Given the description of an element on the screen output the (x, y) to click on. 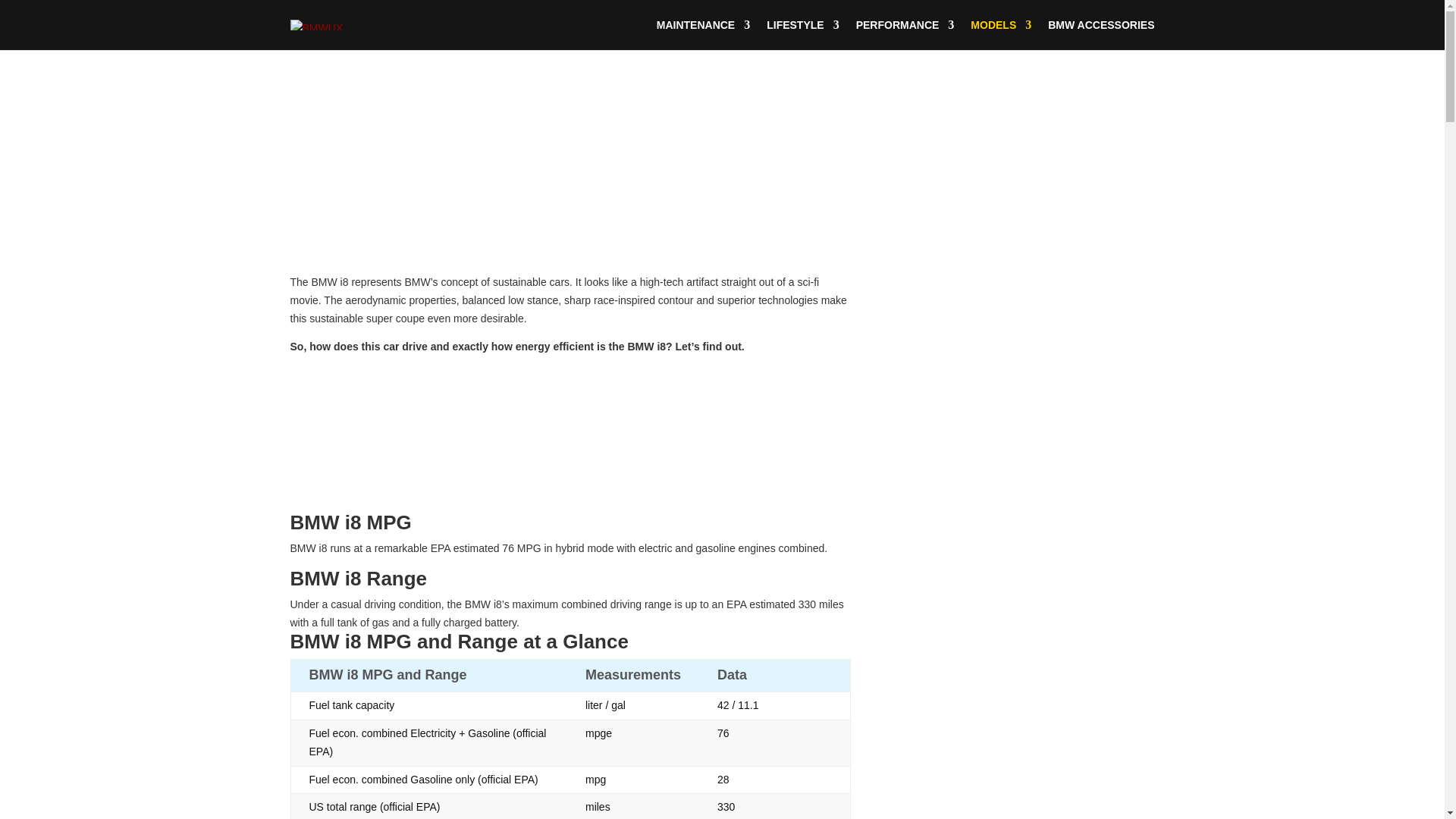
LIFESTYLE (802, 34)
BMW i8 Convertible Roadster (1026, 610)
MAINTENANCE (702, 34)
